Given the description of an element on the screen output the (x, y) to click on. 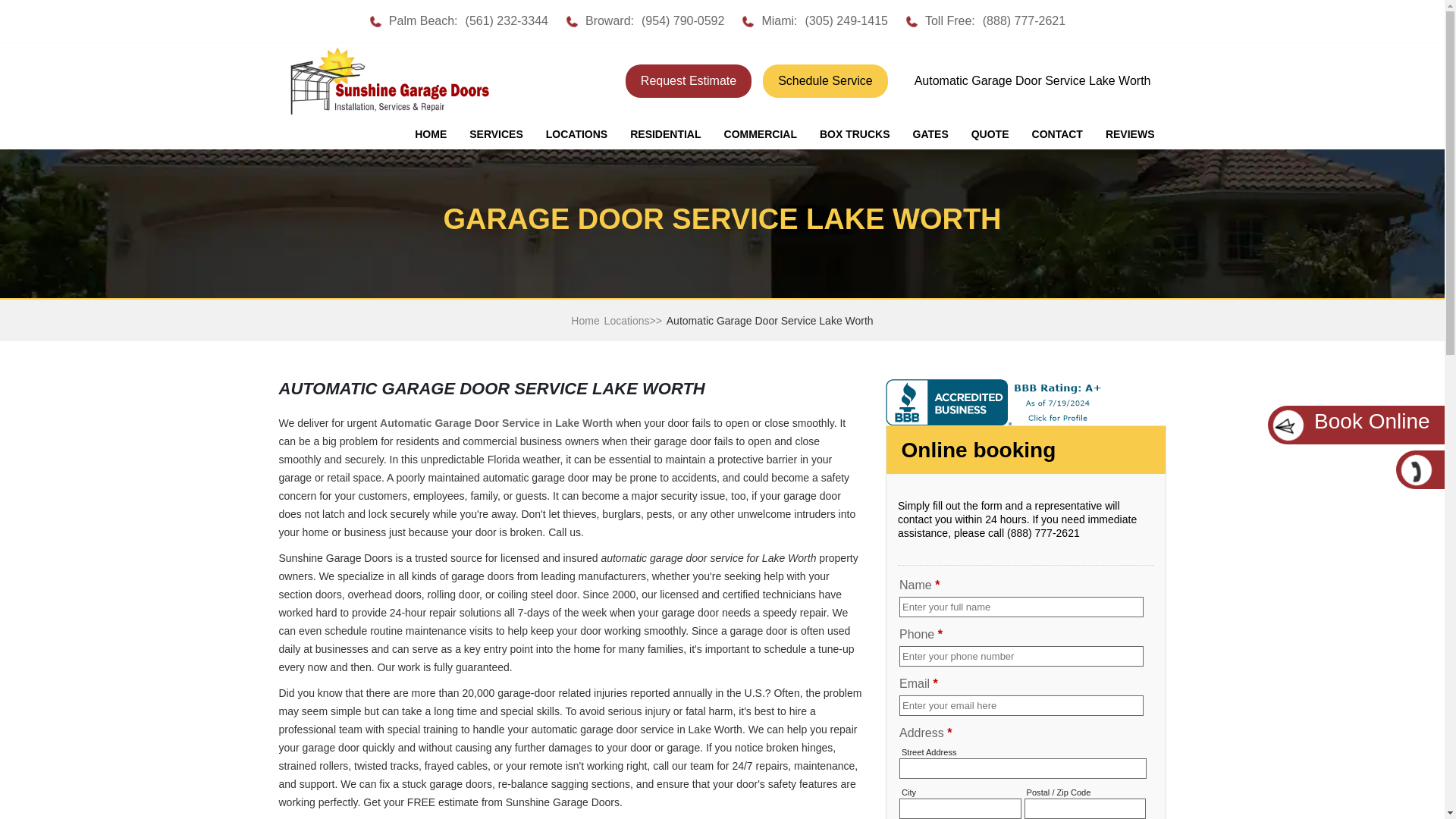
REVIEWS (1129, 133)
CONTACT (1057, 133)
HOME (430, 133)
Schedule Service (825, 80)
BOX TRUCKS (854, 133)
QUOTE (990, 133)
RESIDENTIAL (665, 133)
Request Estimate (688, 80)
GATES (930, 133)
COMMERCIAL (759, 133)
SERVICES (495, 133)
LOCATIONS (576, 133)
